Given the description of an element on the screen output the (x, y) to click on. 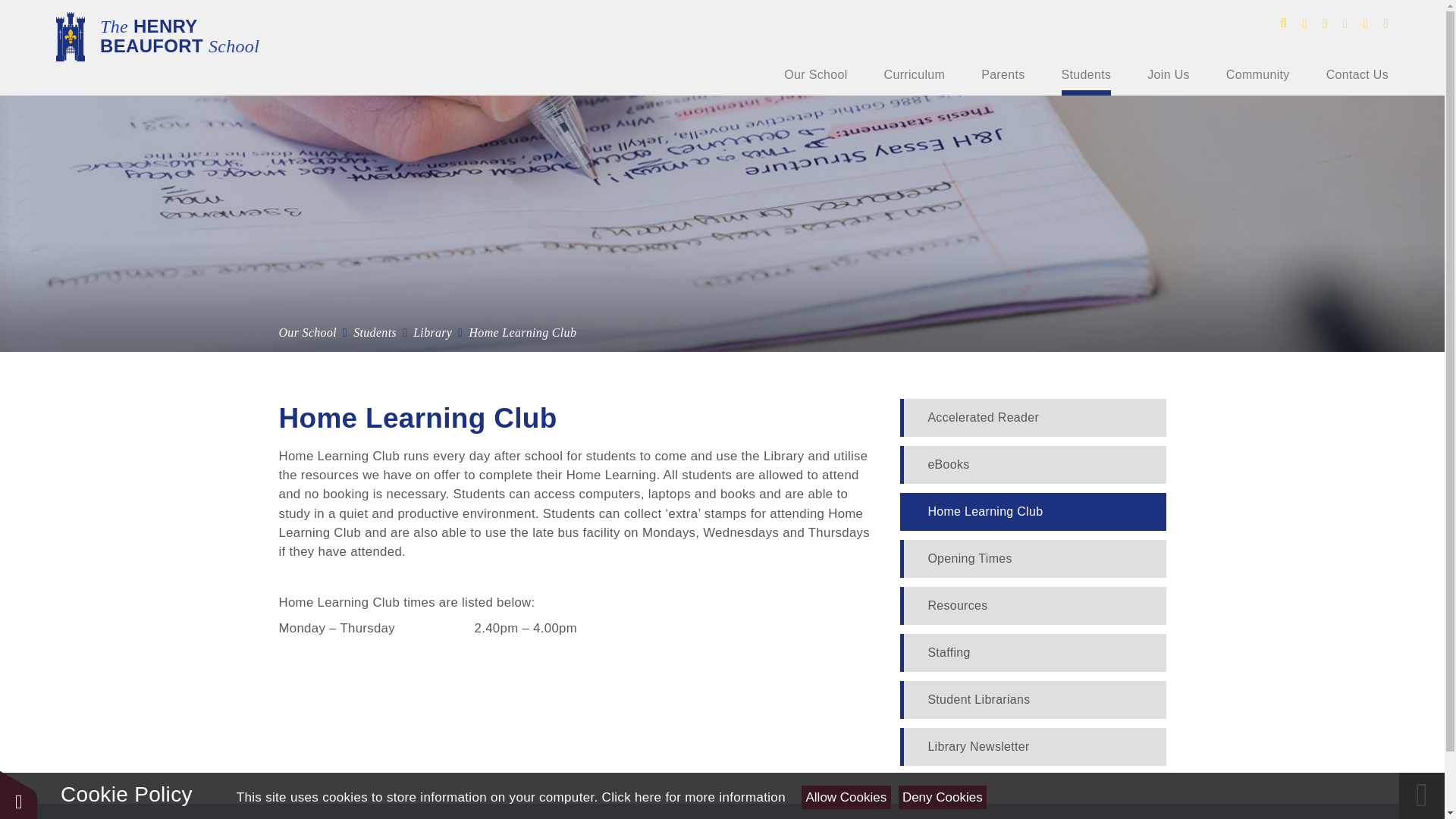
Curriculum (913, 74)
Deny Cookies (942, 797)
Our School (815, 74)
See cookie policy (694, 797)
Allow Cookies (845, 797)
